Given the description of an element on the screen output the (x, y) to click on. 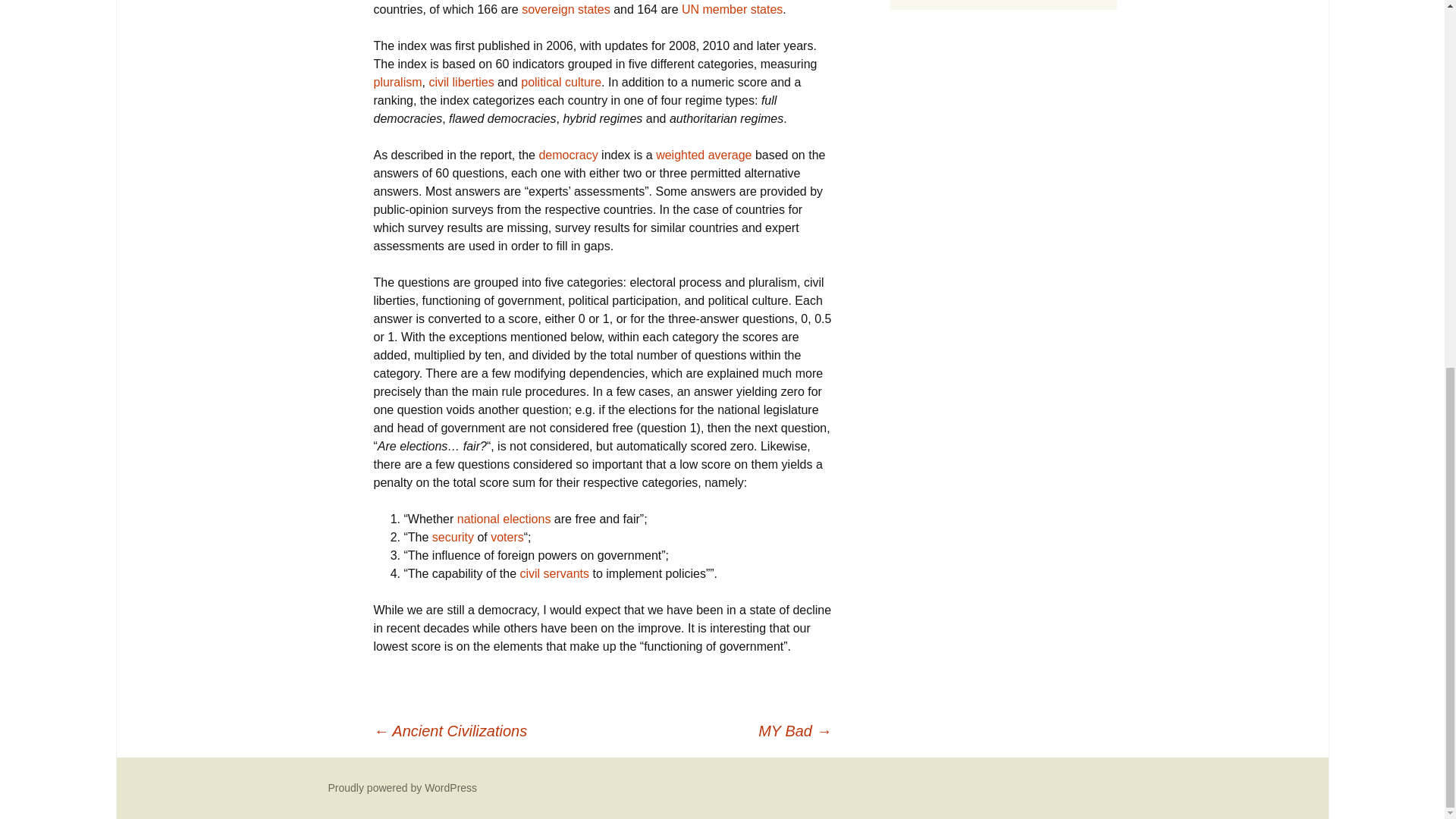
voters (507, 536)
democracy (567, 154)
weighted average (703, 154)
UN member states (732, 9)
sovereign states (565, 9)
elections (526, 518)
security (453, 536)
civil servants (554, 573)
national (478, 518)
civil liberties (460, 82)
Proudly powered by WordPress (402, 787)
pluralism (397, 82)
political culture (561, 82)
